Given the description of an element on the screen output the (x, y) to click on. 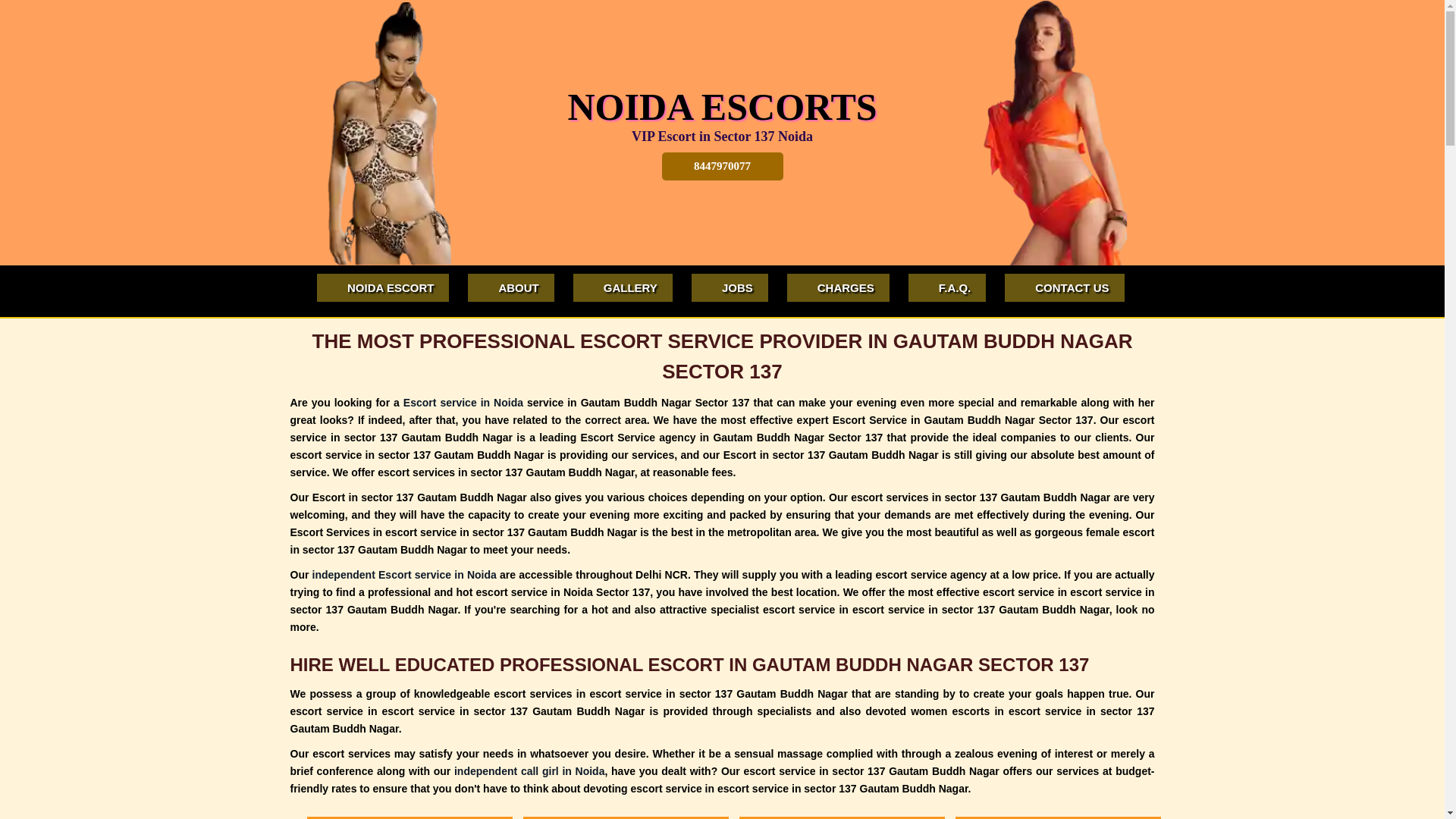
JOBS Element type: text (729, 287)
independent call girl in Noida Element type: text (529, 771)
Escort service in Noida Element type: text (463, 402)
F.A.Q. Element type: text (947, 287)
ABOUT Element type: text (510, 287)
GALLERY Element type: text (622, 287)
independent Escort service in Noida Element type: text (404, 574)
CONTACT US Element type: text (1063, 287)
NOIDA ESCORT Element type: text (382, 287)
NOIDA ESCORTS Element type: text (721, 106)
8447970077 Element type: text (721, 166)
CHARGES Element type: text (838, 287)
